Given the description of an element on the screen output the (x, y) to click on. 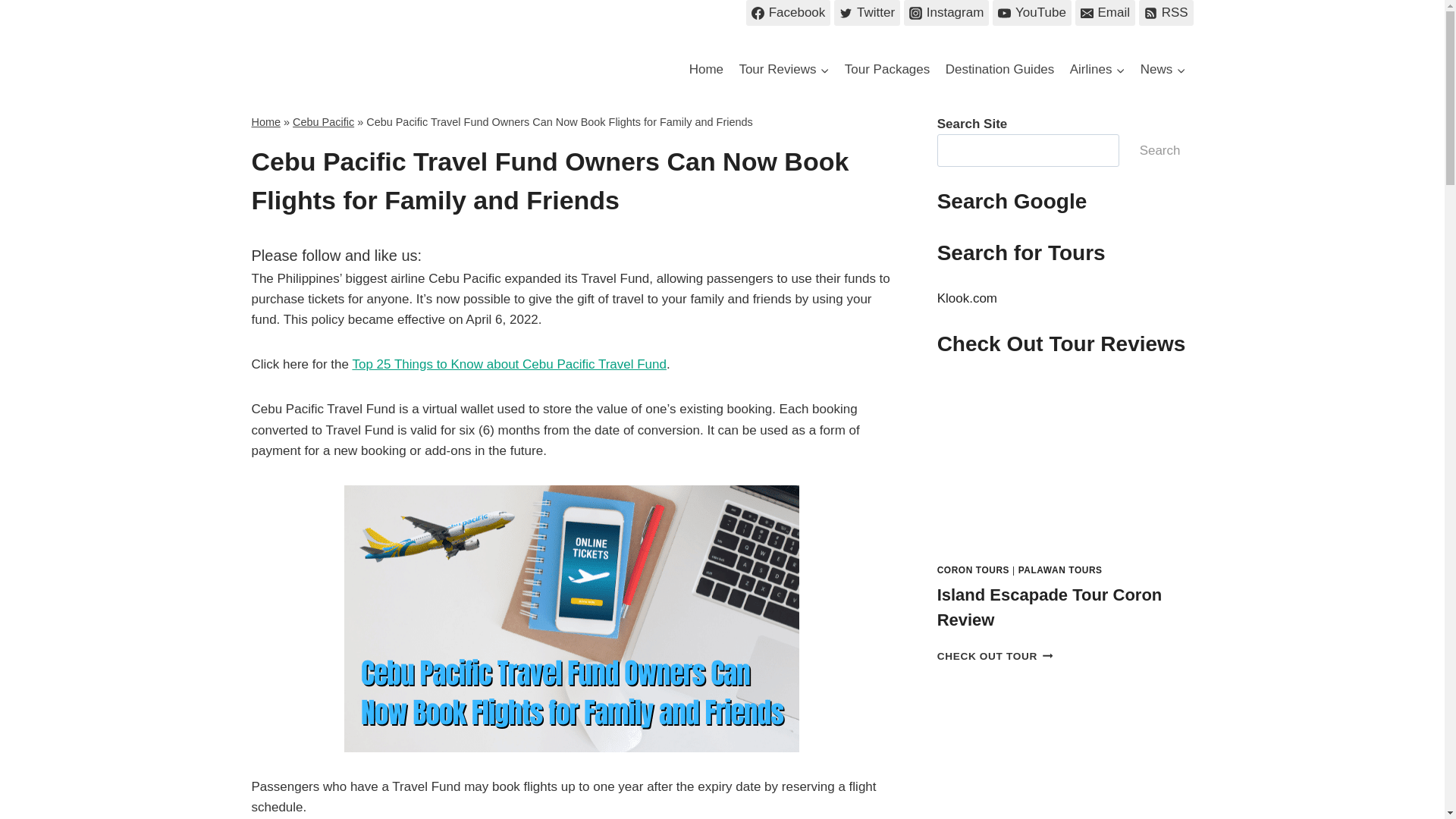
Instagram (946, 12)
Airlines (1096, 69)
Twitter (866, 12)
Email (1105, 12)
Home (705, 69)
YouTube (1031, 12)
Tour Reviews (782, 69)
RSS (1165, 12)
Destination Guides (999, 69)
Tour Packages (887, 69)
Facebook (787, 12)
